Given the description of an element on the screen output the (x, y) to click on. 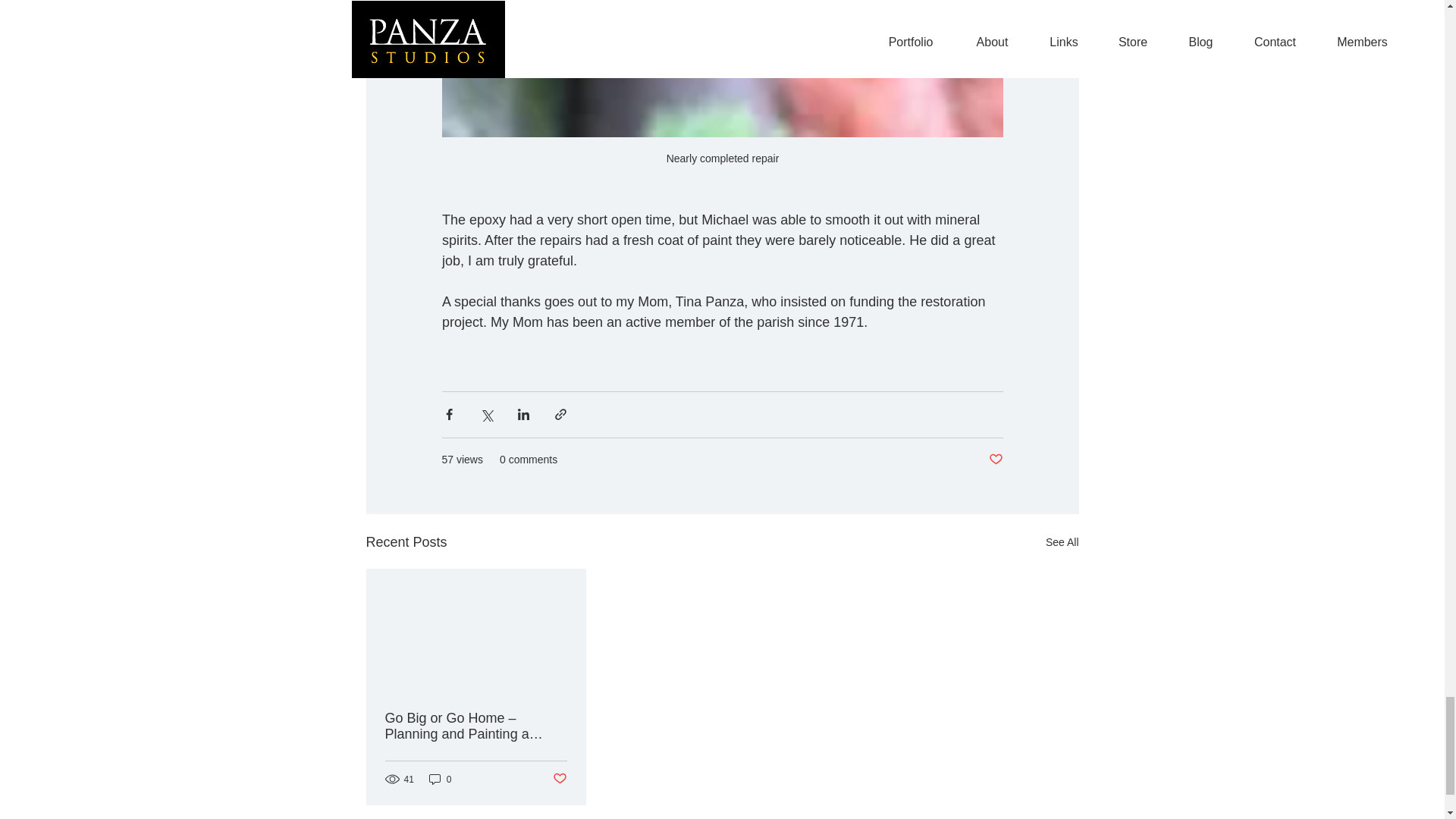
See All (1061, 542)
Post not marked as liked (995, 459)
0 (440, 779)
Post not marked as liked (558, 779)
